Given the description of an element on the screen output the (x, y) to click on. 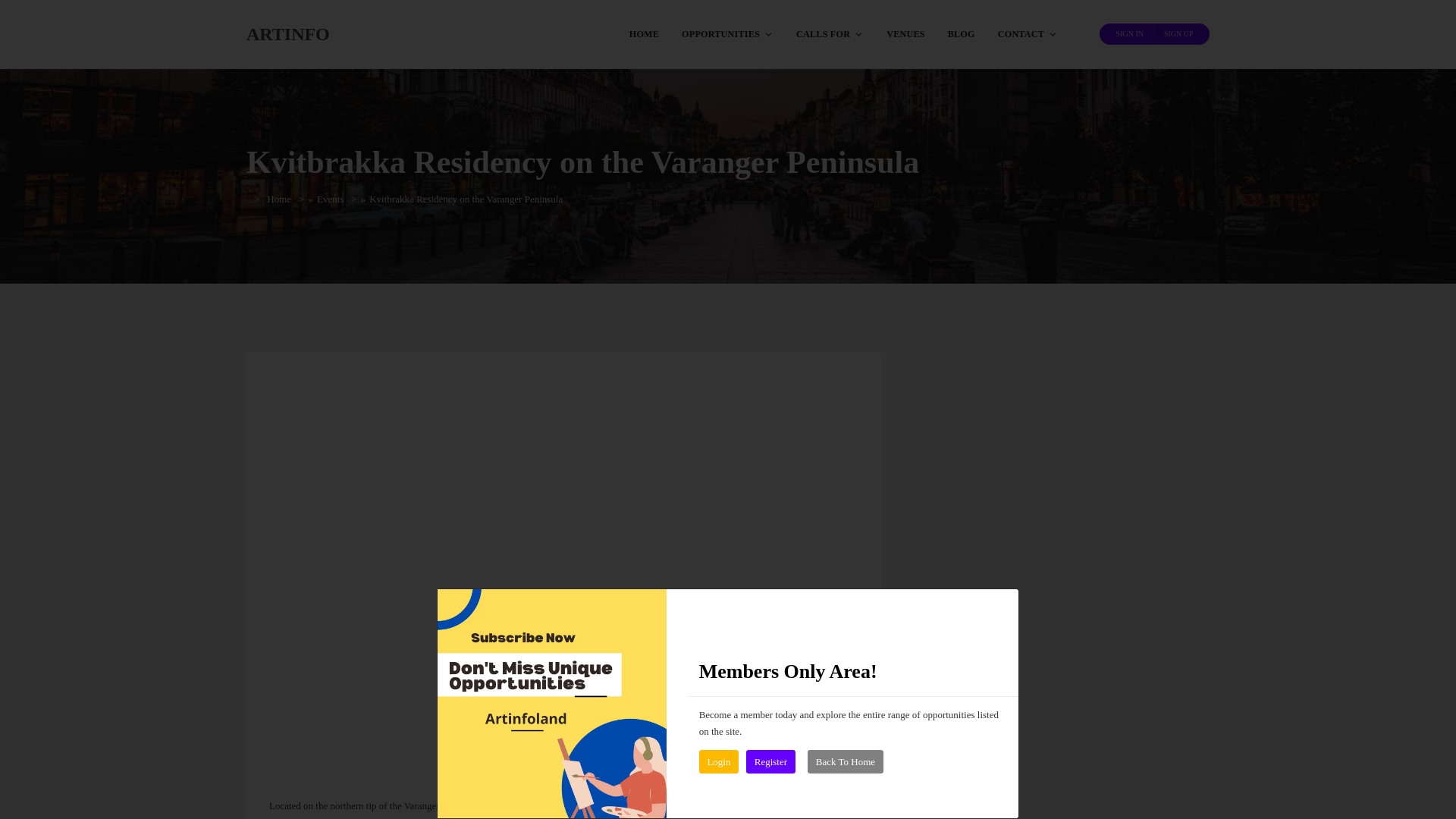
OPPORTUNITIES (726, 33)
HOME (643, 33)
ARTINFO (288, 33)
